Given the description of an element on the screen output the (x, y) to click on. 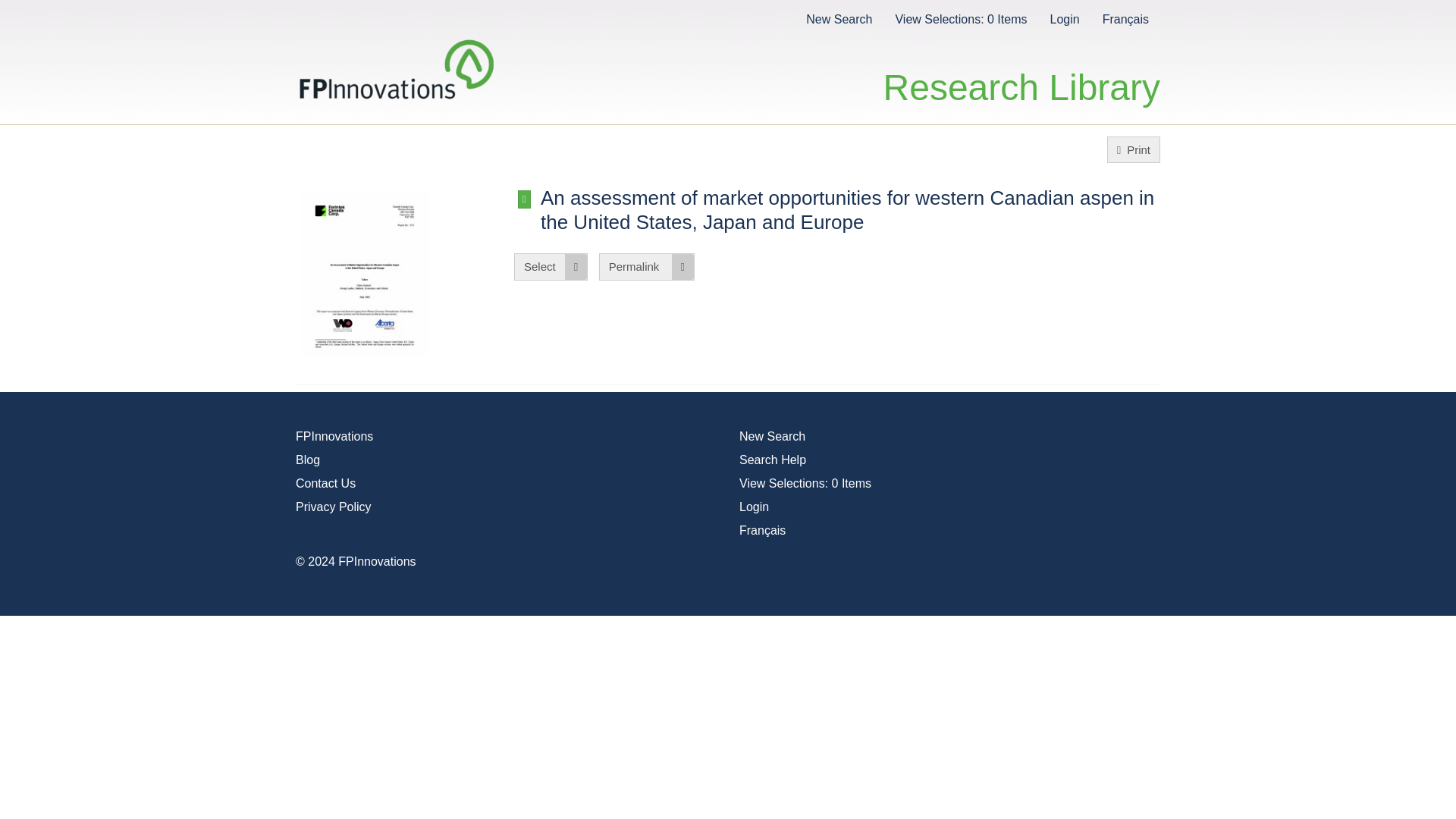
Toggle Full Record (524, 199)
View Selections: 0 Items (804, 482)
Search Help (772, 459)
Permalink (646, 266)
Login (1064, 18)
Toggle Full Record (524, 199)
Permalink (646, 266)
Privacy Policy (333, 506)
Research Library (1021, 71)
Select (550, 266)
Select (550, 266)
Blog (307, 459)
New Search (772, 436)
Contact Us (325, 482)
Toggle Full Record (849, 209)
